Given the description of an element on the screen output the (x, y) to click on. 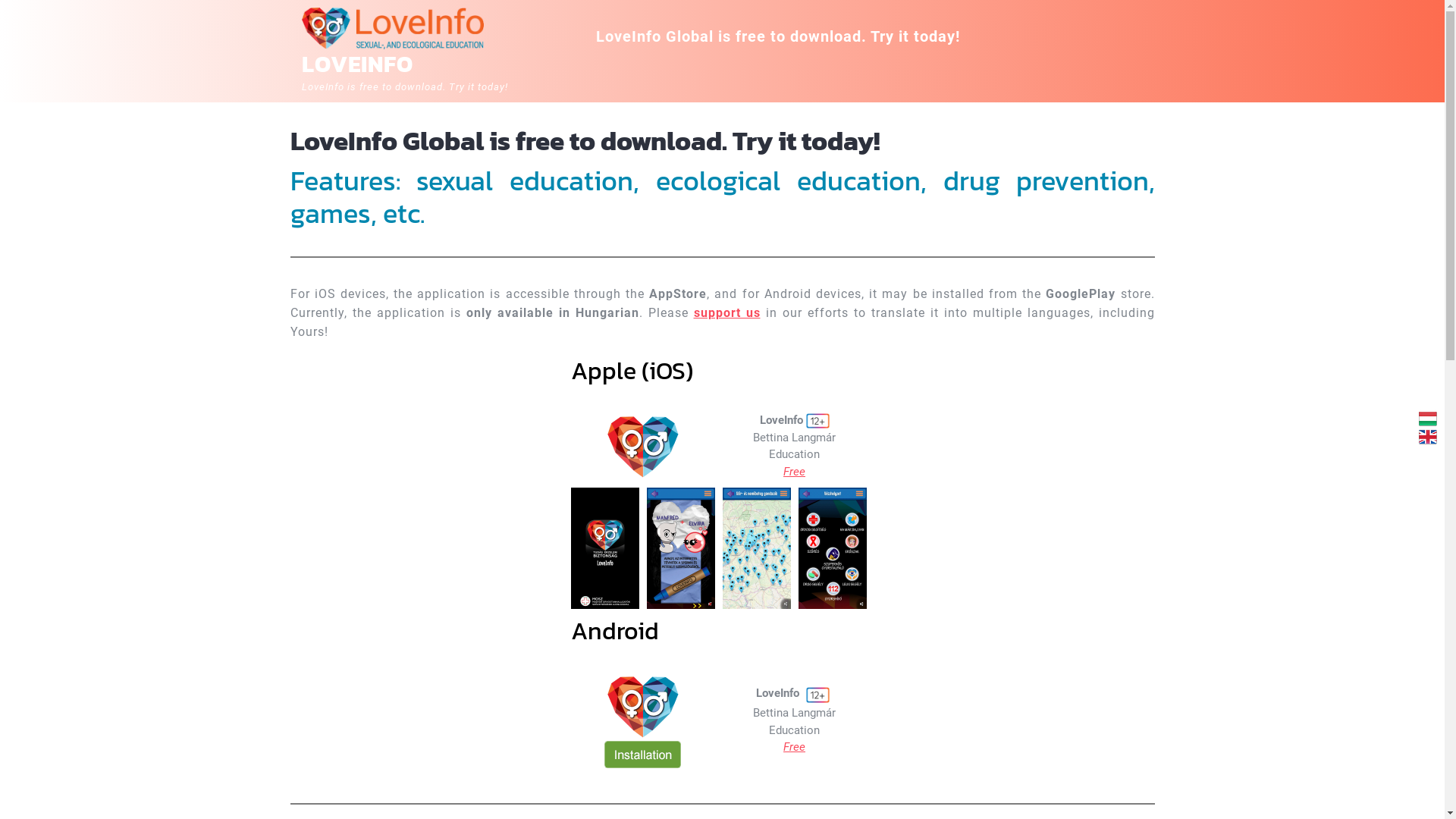
Download - LoveInfo (iOS) Element type: hover (642, 446)
Free Element type: text (794, 471)
Free Element type: text (794, 746)
Hungary  Element type: hover (1427, 418)
support us Element type: text (726, 312)
LoveInfo Global is free to download. Try it today! Element type: text (777, 36)
Download - LoveInfo (Android) Element type: hover (642, 706)
LOVEINFO Element type: text (357, 64)
English  Element type: hover (1427, 436)
